Given the description of an element on the screen output the (x, y) to click on. 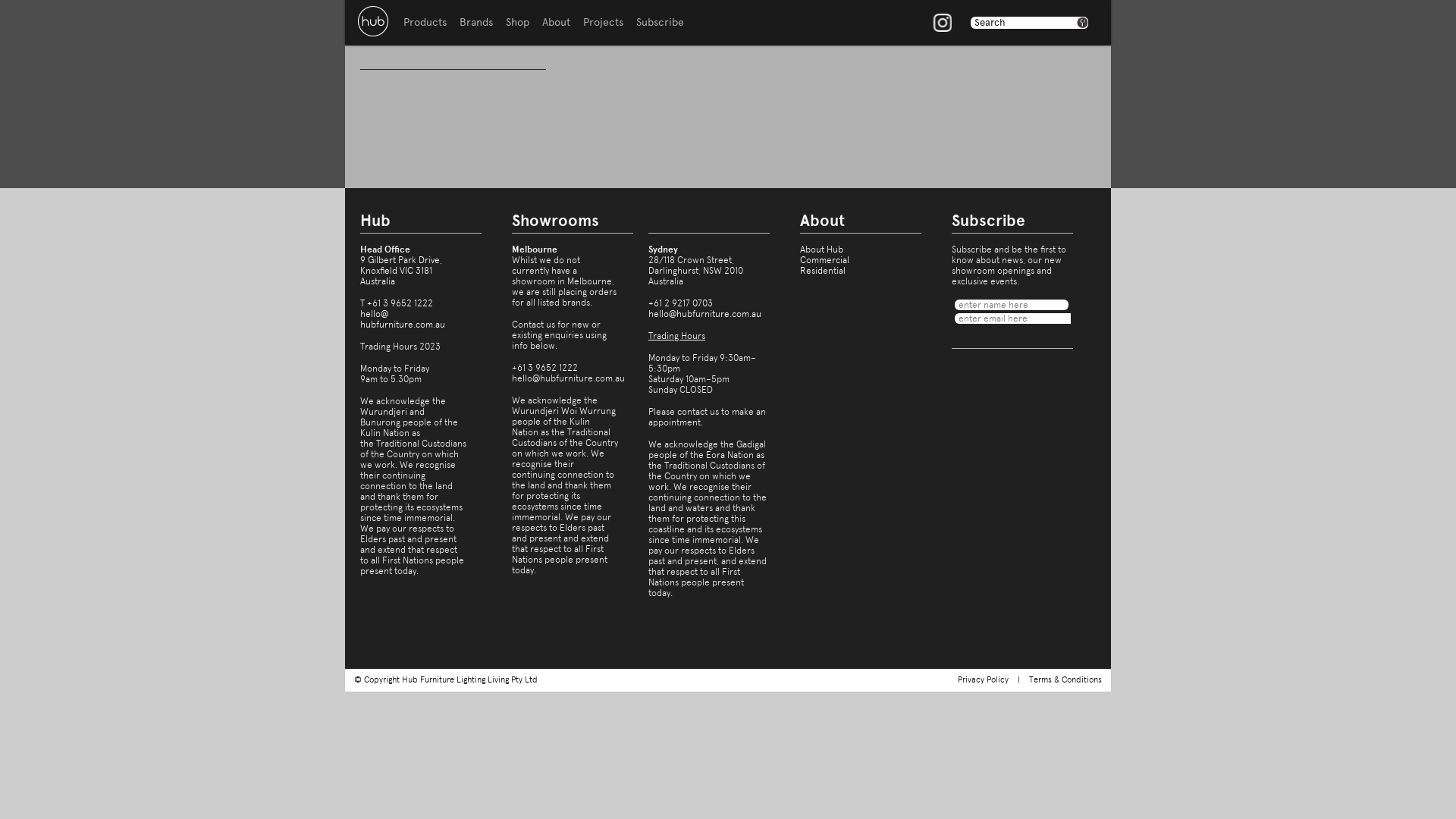
enter email here Element type: text (1011, 318)
Hub Element type: text (372, 21)
enter name here Element type: text (1011, 304)
About Element type: text (556, 22)
About Hub Element type: text (821, 249)
+61 2 9217 0703 Element type: text (680, 303)
Commercial Element type: text (824, 259)
Shop Element type: text (517, 22)
Instagram Element type: text (942, 22)
Projects Element type: text (603, 22)
Products Element type: text (424, 22)
Privacy Policy Element type: text (982, 679)
Subscribe Element type: text (660, 22)
+61 3 9652 1222 Element type: text (400, 303)
Terms & Conditions Element type: text (1065, 679)
1 Element type: text (1082, 22)
Residential Element type: text (822, 270)
hello@hubfurniture.com.au Element type: text (704, 313)
Brands Element type: text (475, 22)
hello@
hubfurniture.com.au Element type: text (402, 318)
9 Gilbert Park Drive,
Knoxfield VIC 3181
Australia  Element type: text (401, 270)
